Given the description of an element on the screen output the (x, y) to click on. 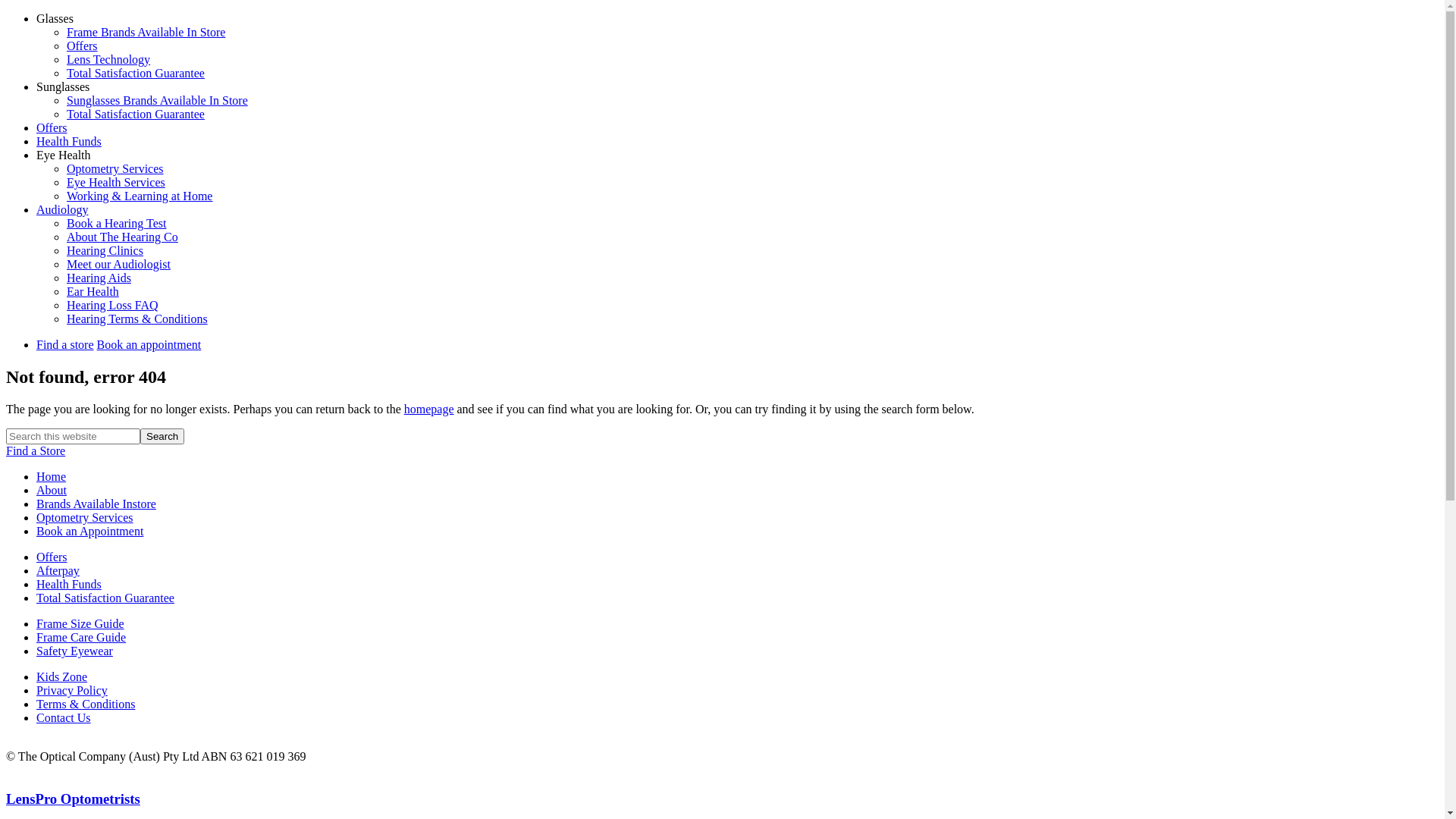
Offers Element type: text (51, 127)
Meet our Audiologist Element type: text (118, 263)
Search Element type: text (162, 436)
Frame Brands Available In Store Element type: text (145, 31)
Glasses Element type: text (54, 18)
Total Satisfaction Guarantee Element type: text (135, 113)
Ear Health Element type: text (92, 291)
Afterpay Element type: text (57, 570)
About Element type: text (51, 489)
Optometry Services Element type: text (84, 517)
Home Element type: text (50, 476)
Brands Available Instore Element type: text (96, 503)
Find a Store Element type: text (722, 451)
Eye Health Services Element type: text (115, 181)
Working & Learning at Home Element type: text (139, 195)
Book a Hearing Test Element type: text (116, 222)
Audiology Element type: text (61, 209)
Total Satisfaction Guarantee Element type: text (105, 597)
Lens Technology Element type: text (108, 59)
Book an appointment Element type: text (149, 344)
About The Hearing Co Element type: text (122, 236)
Frame Care Guide Element type: text (80, 636)
Hearing Clinics Element type: text (104, 250)
Safety Eyewear Element type: text (74, 650)
Frame Size Guide Element type: text (80, 623)
Offers Element type: text (81, 45)
Sunglasses Brands Available In Store Element type: text (156, 100)
Hearing Aids Element type: text (98, 277)
Optometry Services Element type: text (114, 168)
Eye Health Element type: text (63, 154)
Book an Appointment Element type: text (89, 530)
Privacy Policy Element type: text (71, 690)
Kids Zone Element type: text (61, 676)
Sunglasses Element type: text (62, 86)
Total Satisfaction Guarantee Element type: text (135, 72)
Health Funds Element type: text (68, 583)
Hearing Terms & Conditions Element type: text (136, 318)
Hearing Loss FAQ Element type: text (112, 304)
Find a store Element type: text (65, 344)
Terms & Conditions Element type: text (85, 703)
Health Funds Element type: text (68, 140)
Offers Element type: text (51, 556)
LensPro Optometrists Element type: text (73, 798)
homepage Element type: text (429, 408)
Contact Us Element type: text (63, 717)
